Given the description of an element on the screen output the (x, y) to click on. 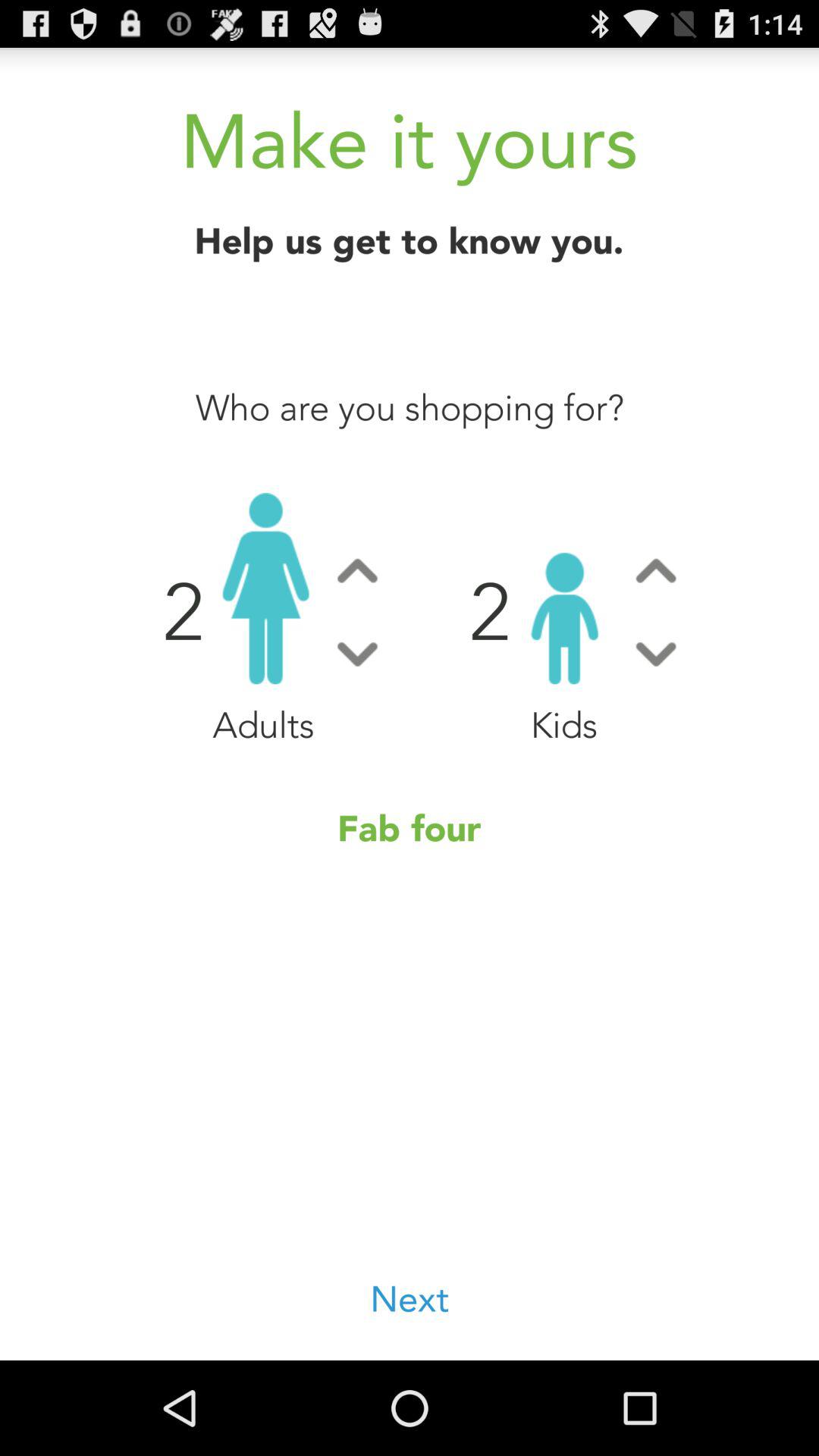
decrease number of kids (655, 654)
